Given the description of an element on the screen output the (x, y) to click on. 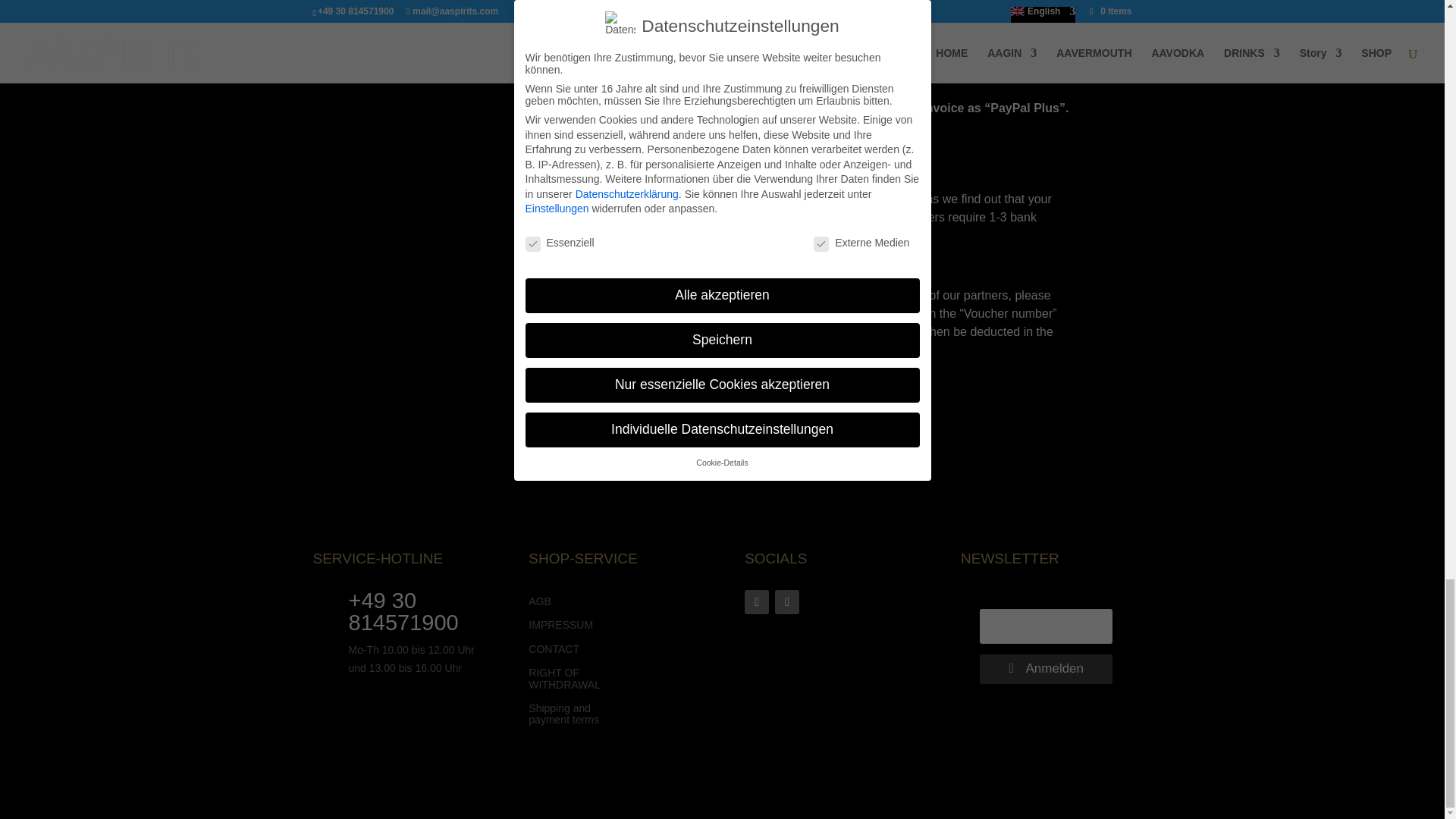
Follow on Instagram (786, 601)
Follow on Facebook (756, 601)
